Given the description of an element on the screen output the (x, y) to click on. 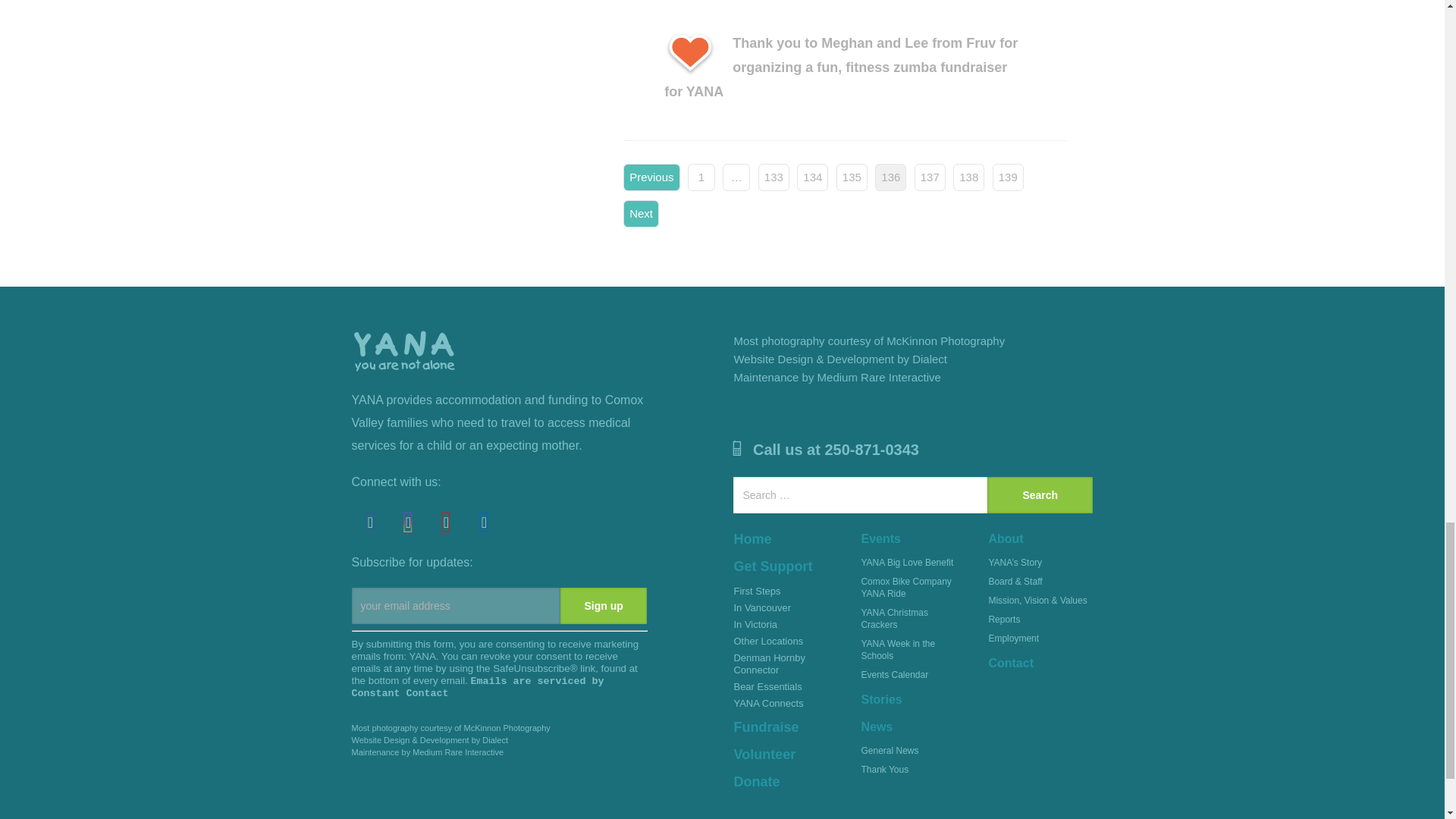
Follow Us On LinkedIn (484, 522)
Follow Us On YouTube (446, 522)
Search (1040, 494)
Search (1040, 494)
Sign up (603, 606)
Follow Us On Facebook (371, 522)
Follow Us On Instagram (409, 522)
